Given the description of an element on the screen output the (x, y) to click on. 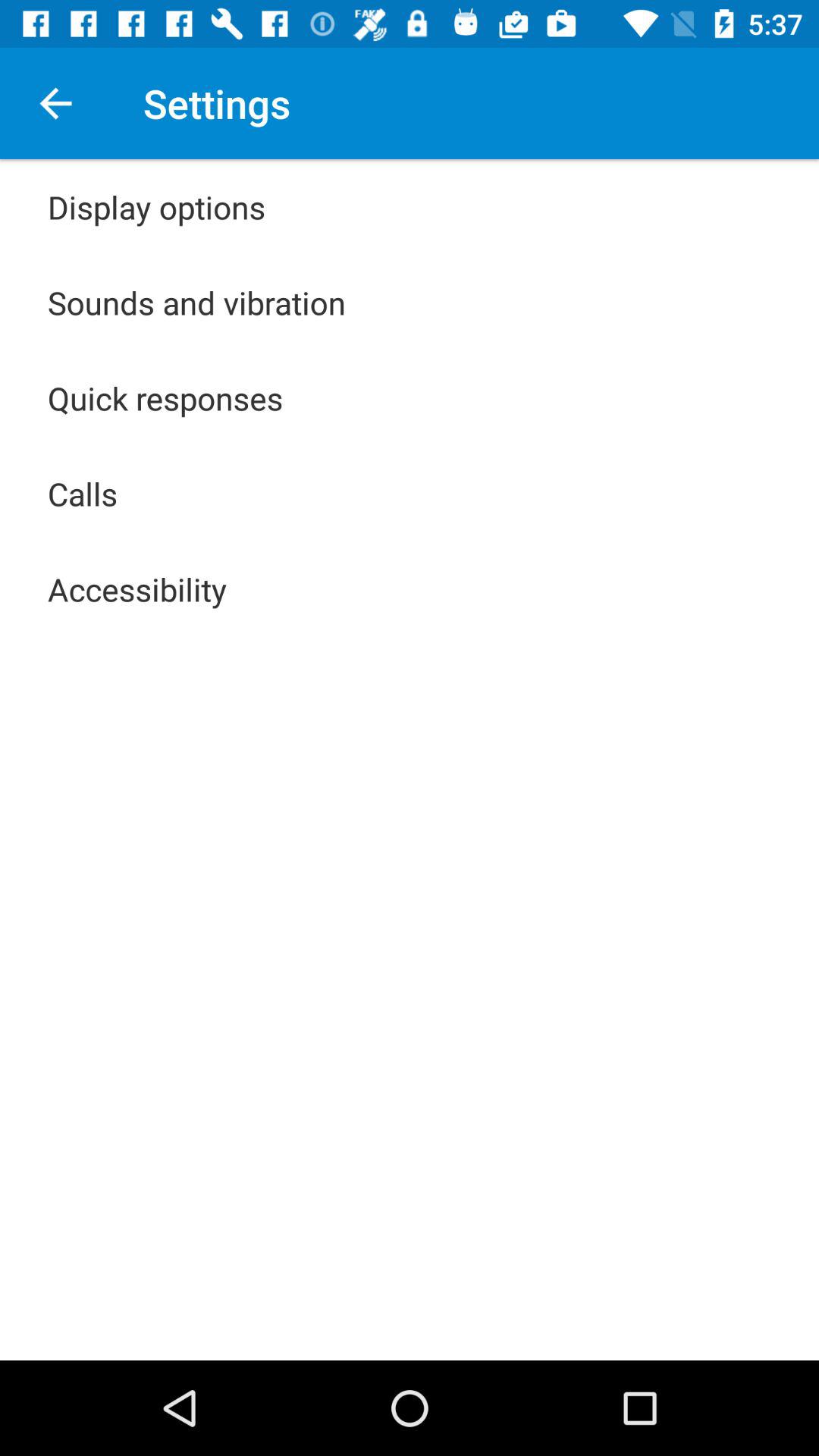
launch the display options icon (156, 206)
